Given the description of an element on the screen output the (x, y) to click on. 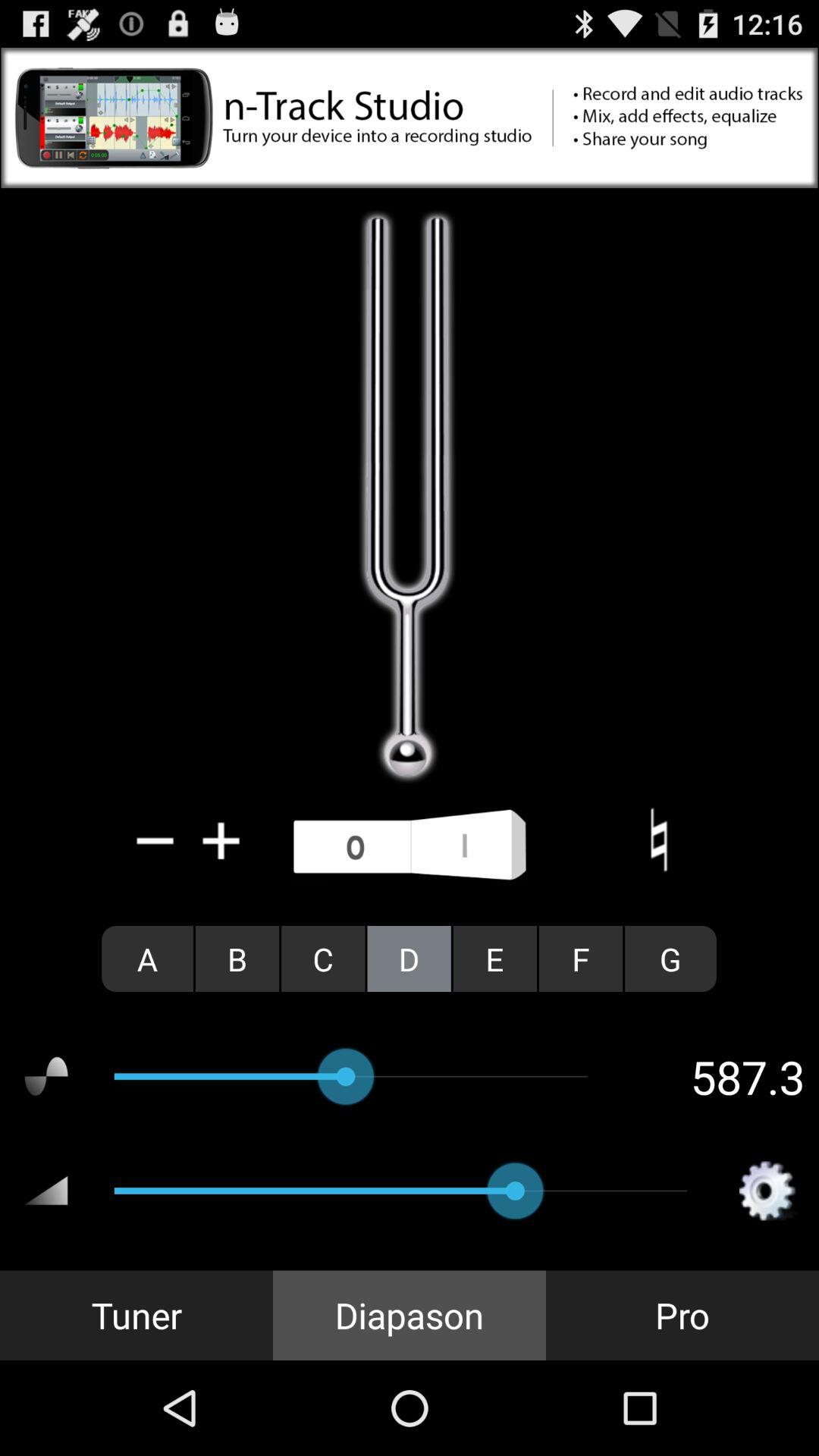
choose icon above the a radio button (221, 840)
